Given the description of an element on the screen output the (x, y) to click on. 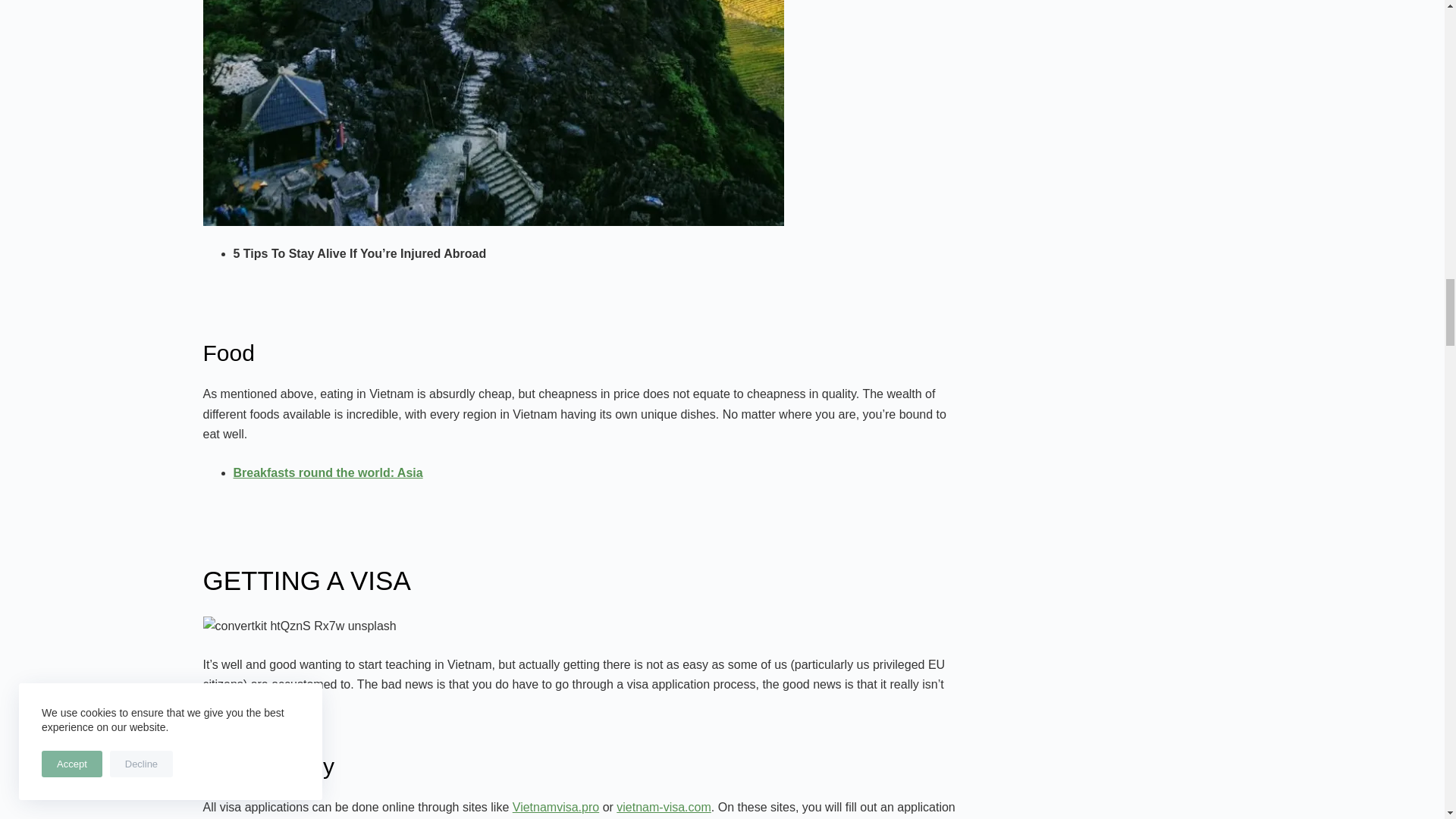
Teaching in Vietnam: A Guide for Working Success 4 (299, 626)
Teaching in Vietnam: A Guide for Working Success 3 (493, 113)
